Given the description of an element on the screen output the (x, y) to click on. 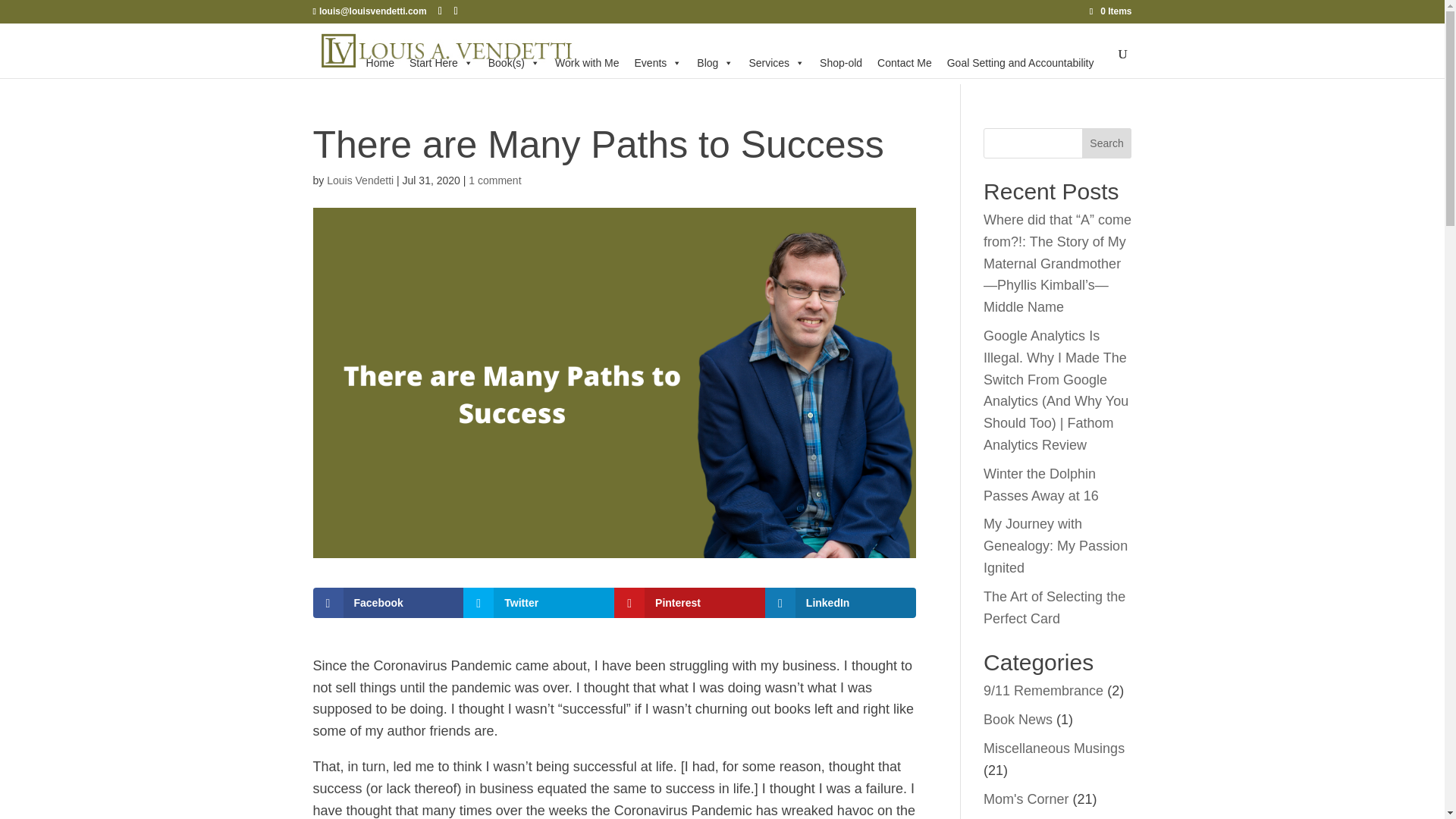
Contact Me (904, 62)
Services (776, 62)
Search (1106, 142)
Home (379, 62)
Twitter (538, 603)
Start Here (440, 62)
Work with Me (587, 62)
Events (658, 62)
0 Items (1110, 10)
Pinterest (689, 603)
